Given the description of an element on the screen output the (x, y) to click on. 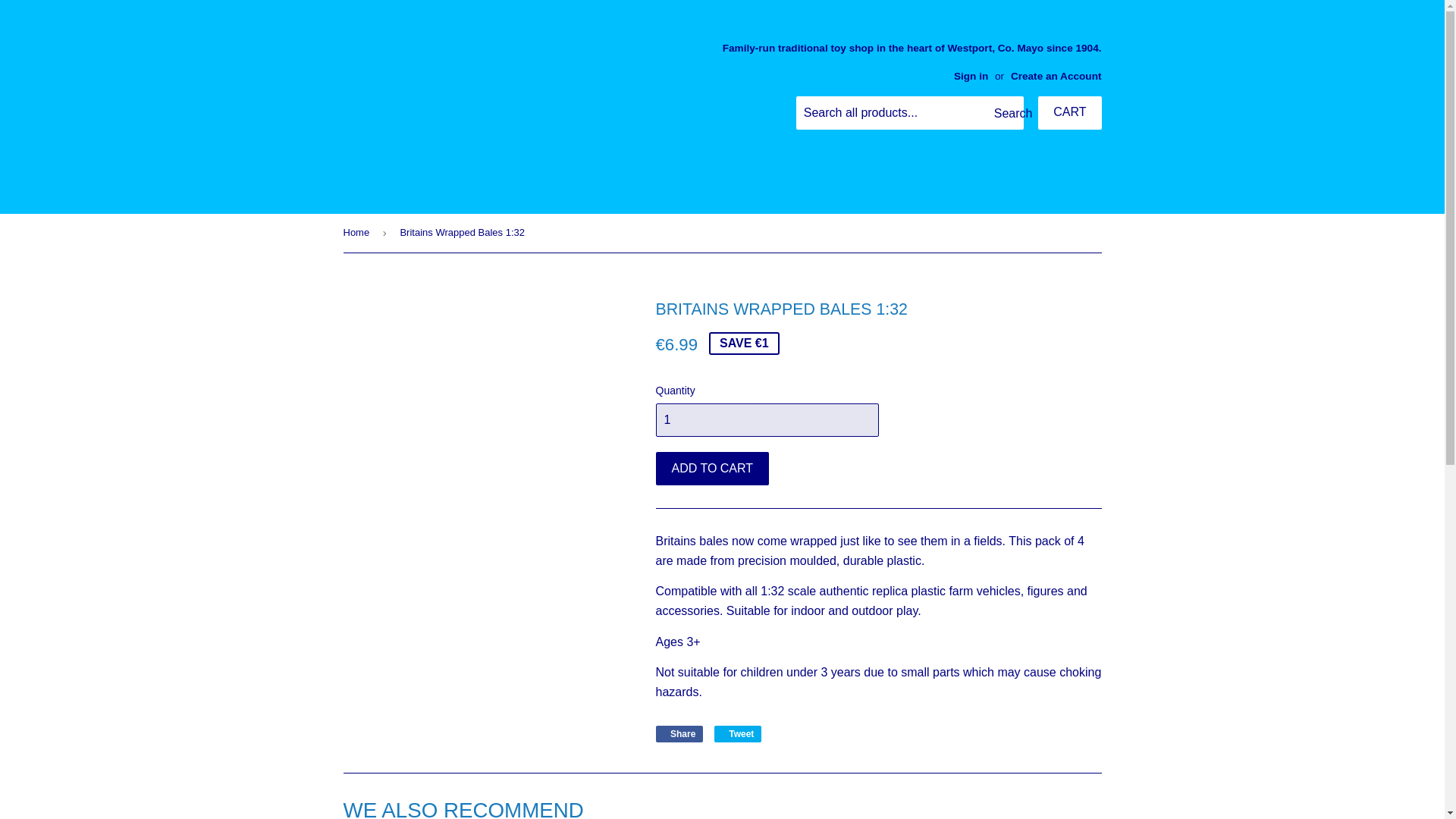
Share on Facebook (679, 733)
Search (1006, 113)
Create an Account (1056, 75)
CART (1069, 112)
Sign in (970, 75)
1 (766, 419)
Tweet on Twitter (737, 733)
